Given the description of an element on the screen output the (x, y) to click on. 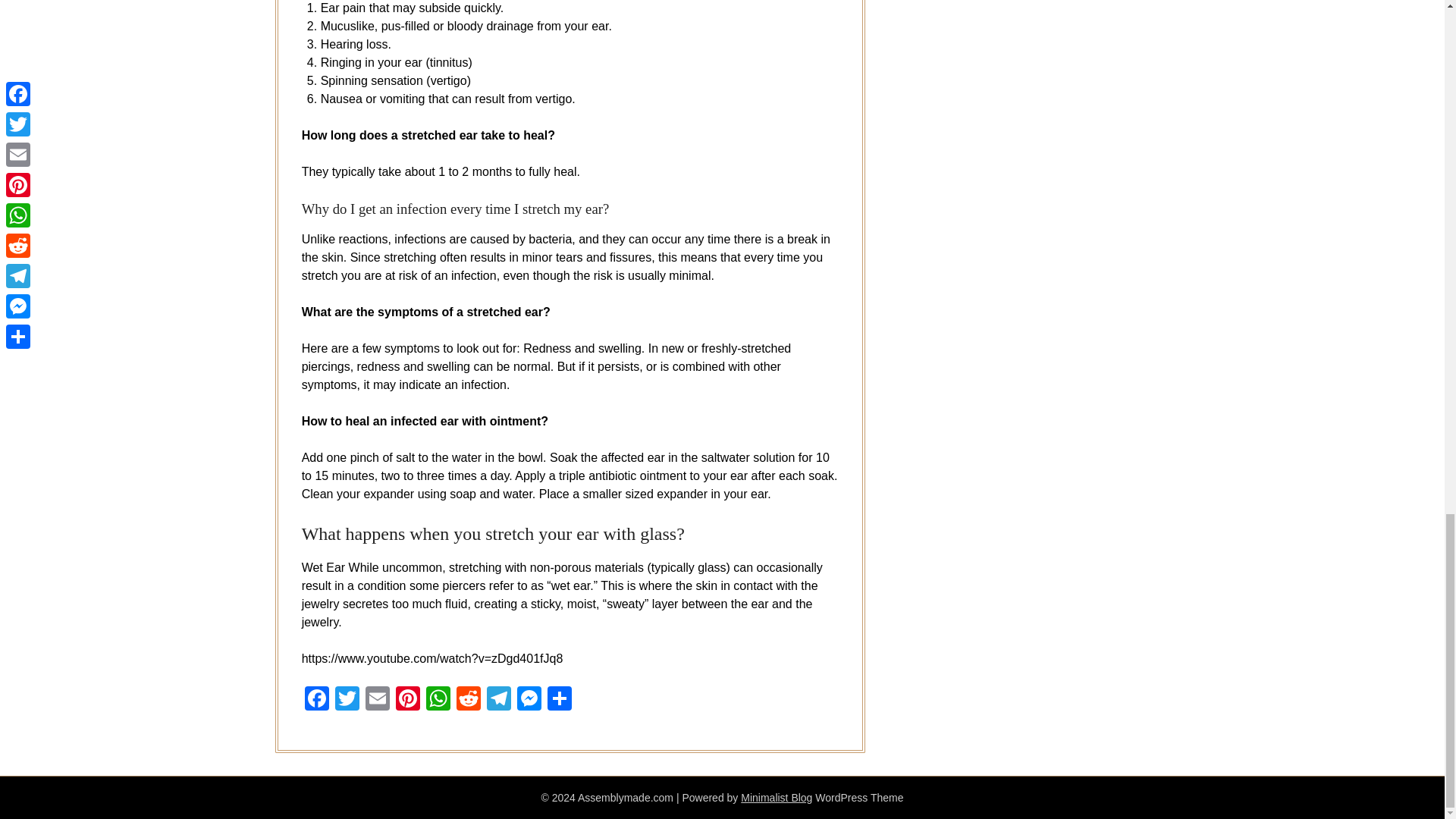
WhatsApp (437, 700)
Reddit (467, 700)
Messenger (528, 700)
Facebook (316, 700)
Twitter (346, 700)
Minimalist Blog (776, 797)
Email (377, 700)
Pinterest (408, 700)
Messenger (528, 700)
Facebook (316, 700)
Twitter (346, 700)
Telegram (498, 700)
WhatsApp (437, 700)
Pinterest (408, 700)
Reddit (467, 700)
